Given the description of an element on the screen output the (x, y) to click on. 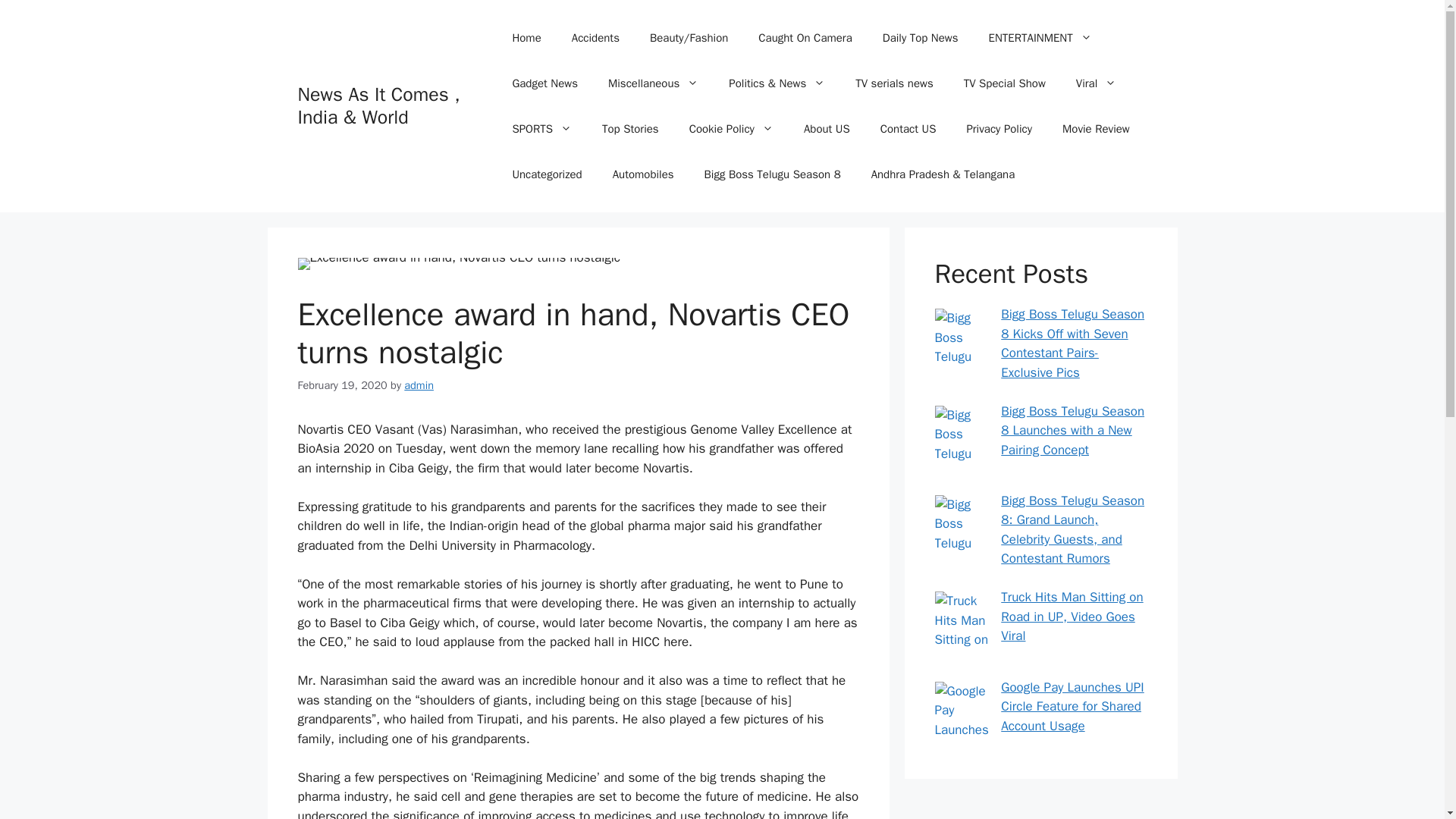
Daily Top News (920, 37)
Gadget News (544, 83)
ENTERTAINMENT (1040, 37)
Caught On Camera (804, 37)
Accidents (595, 37)
Miscellaneous (652, 83)
TV serials news (893, 83)
Home (526, 37)
View all posts by admin (418, 385)
Viral (1096, 83)
